Given the description of an element on the screen output the (x, y) to click on. 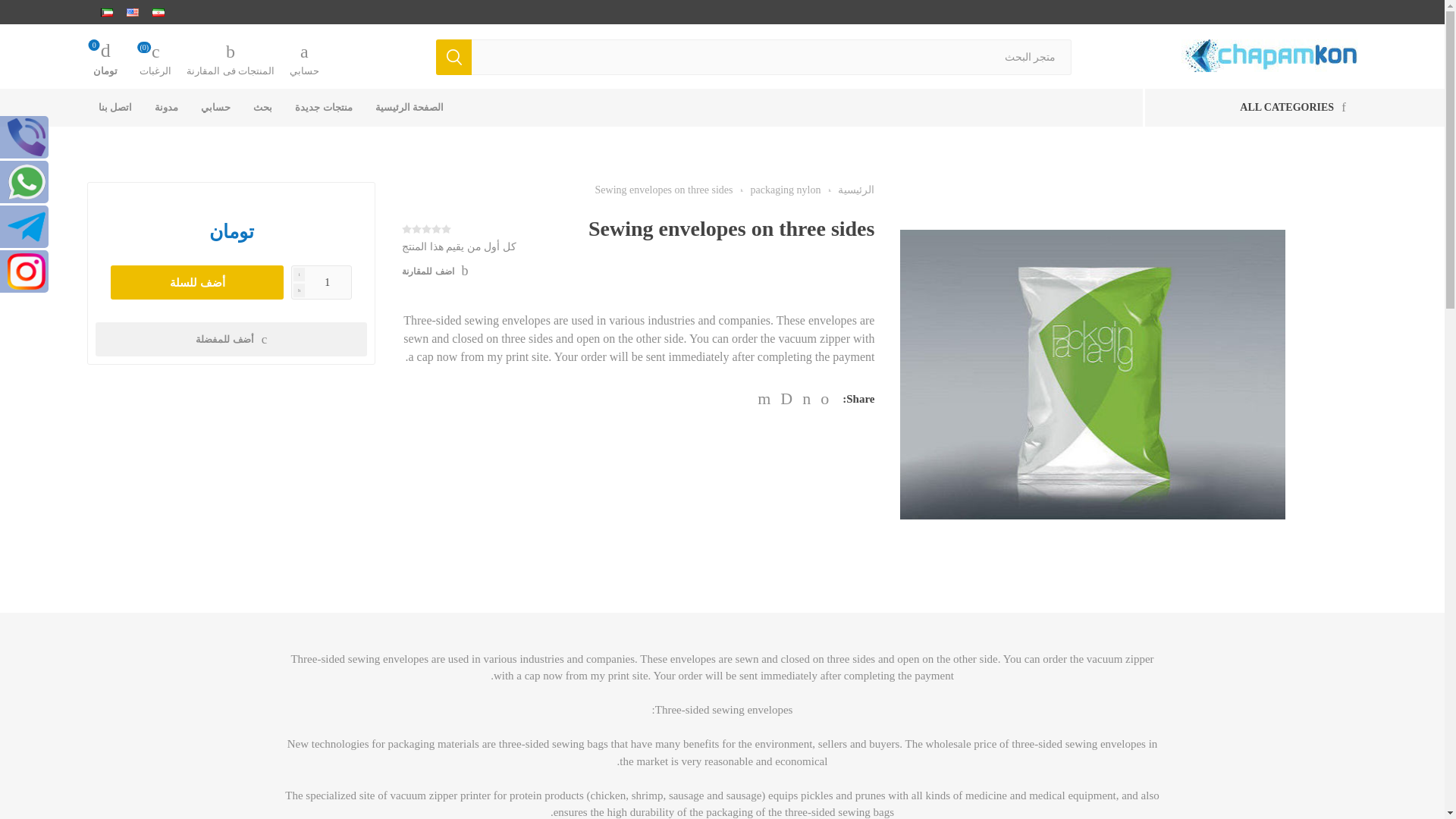
English (132, 12)
Share on Pinterest (786, 398)
1 (321, 282)
English (132, 11)
Share on Facebook (806, 398)
packaging nylon (784, 189)
Share on Twitter (824, 398)
